Given the description of an element on the screen output the (x, y) to click on. 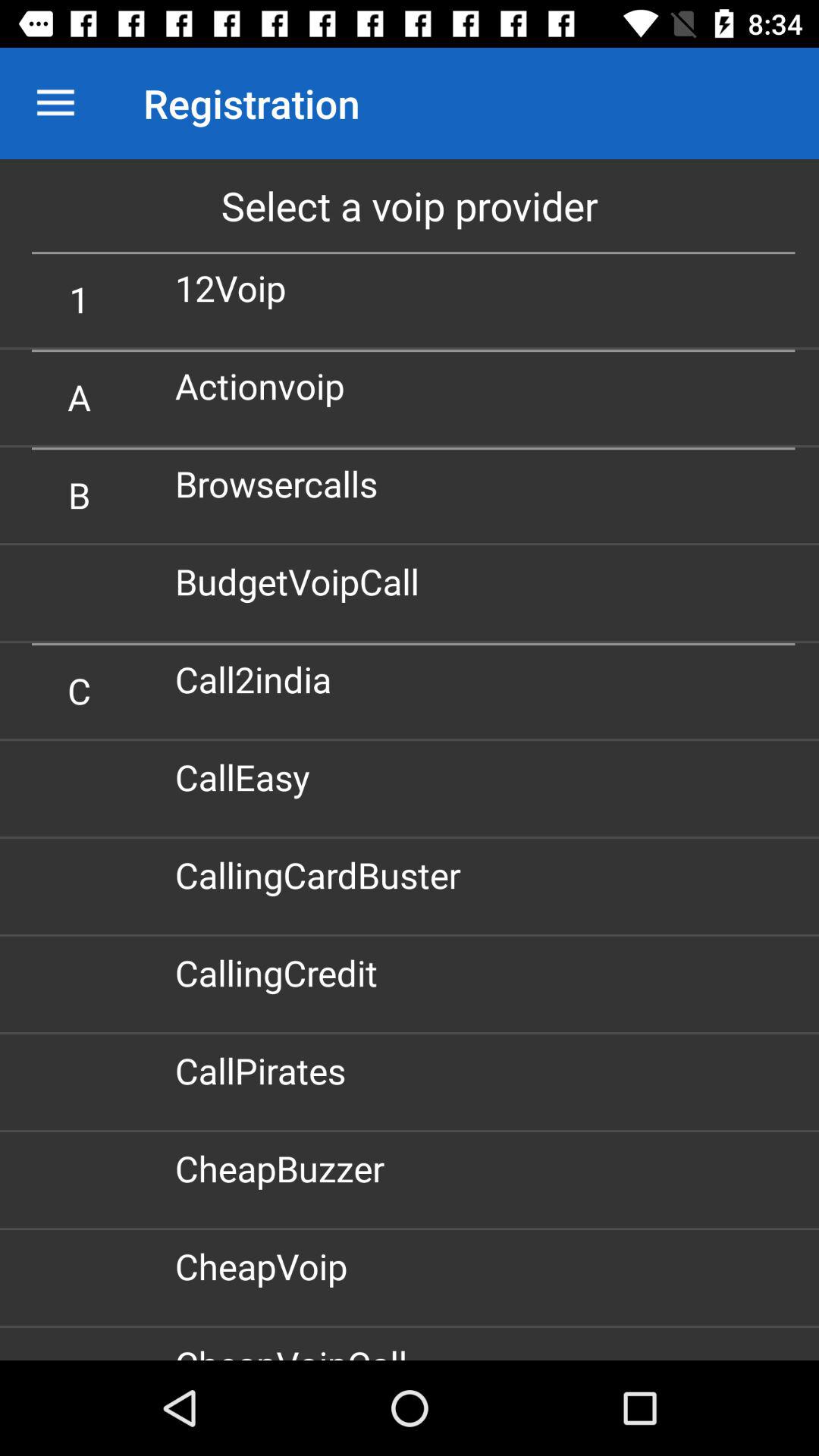
click the item next to the 1 icon (236, 287)
